Given the description of an element on the screen output the (x, y) to click on. 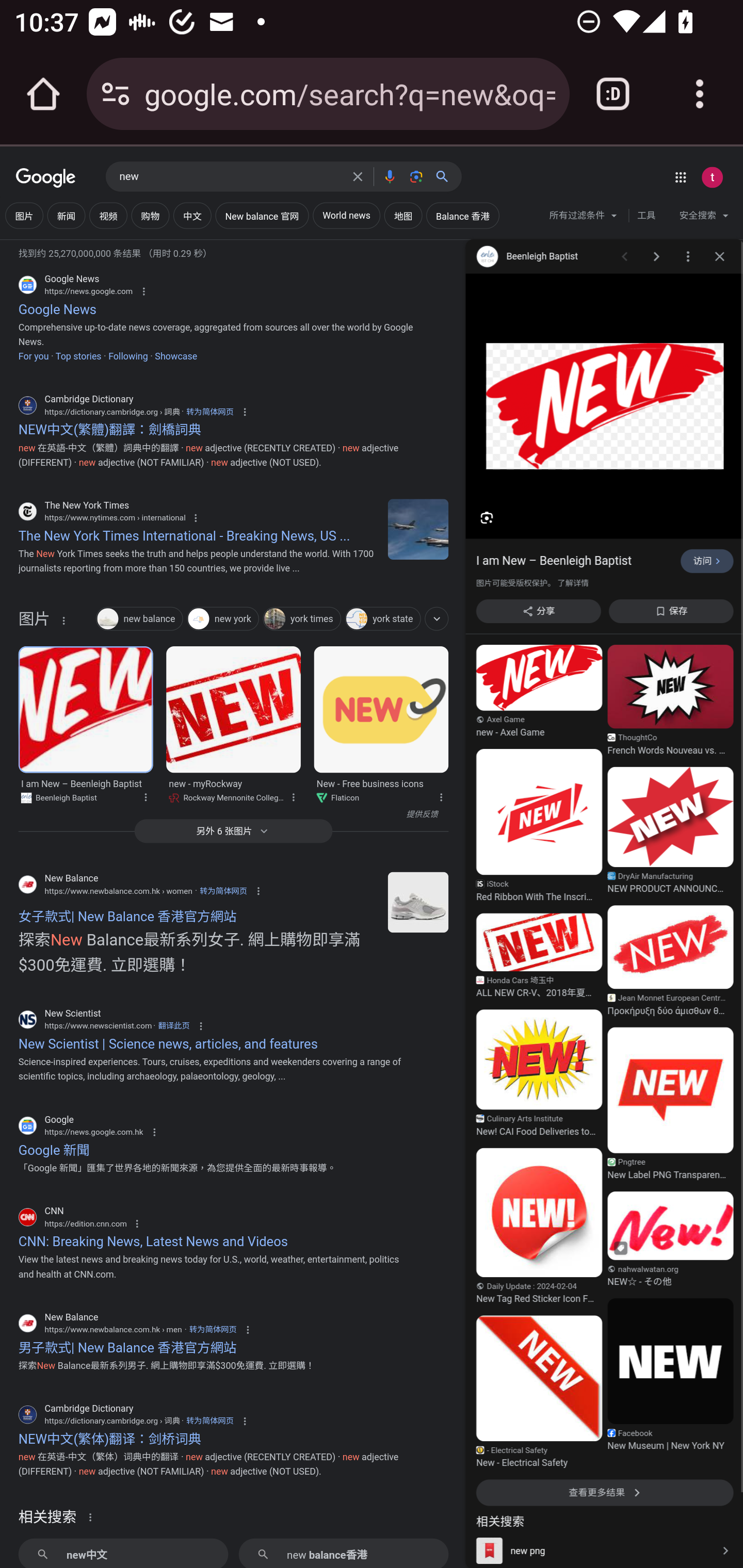
Open the home page (43, 93)
Connection is secure (115, 93)
Switch or close tabs (612, 93)
Customize and control Google Chrome (699, 93)
清除 (357, 176)
按语音搜索 (389, 176)
按图搜索 (415, 176)
搜索 (446, 176)
Google 应用 (680, 176)
Google 账号： test appium (testappium002@gmail.com) (712, 176)
Google (45, 178)
new (229, 177)
图片 (24, 215)
新闻 (65, 215)
视频 (107, 215)
购物 (149, 215)
添加“中文” 中文 (191, 215)
添加“New balance 官网” New balance 官网 (261, 215)
添加“World news” World news (346, 215)
地图 (403, 215)
添加“Balance 香港” Balance 香港 (462, 215)
所有过滤条件 (583, 217)
工具 (646, 215)
安全搜索 (703, 217)
For you (33, 356)
Top stories (77, 356)
Following (127, 356)
Showcase (175, 356)
转为简体网页 (209, 411)
international (417, 528)
图片 (33, 623)
new balance (139, 620)
new york (222, 620)
york times (301, 620)
york state (382, 620)
按功能过滤 (436, 618)
关于这条结果的详细信息 (62, 620)
I am New – Beenleigh Baptist (85, 709)
new - myRockway (233, 709)
New - Free business icons (380, 709)
关于这条结果的详细信息 (145, 795)
关于这条结果的详细信息 (292, 795)
关于这条结果的详细信息 (440, 795)
另外 6 张图片 (232, 830)
women (417, 901)
转为简体网页 (223, 890)
翻译此页 (173, 1025)
转为简体网页 (212, 1329)
转为简体网页 (209, 1420)
关于这条结果的详细信息 (93, 1516)
new中文 (122, 1553)
new balance香港 (343, 1553)
